Given the description of an element on the screen output the (x, y) to click on. 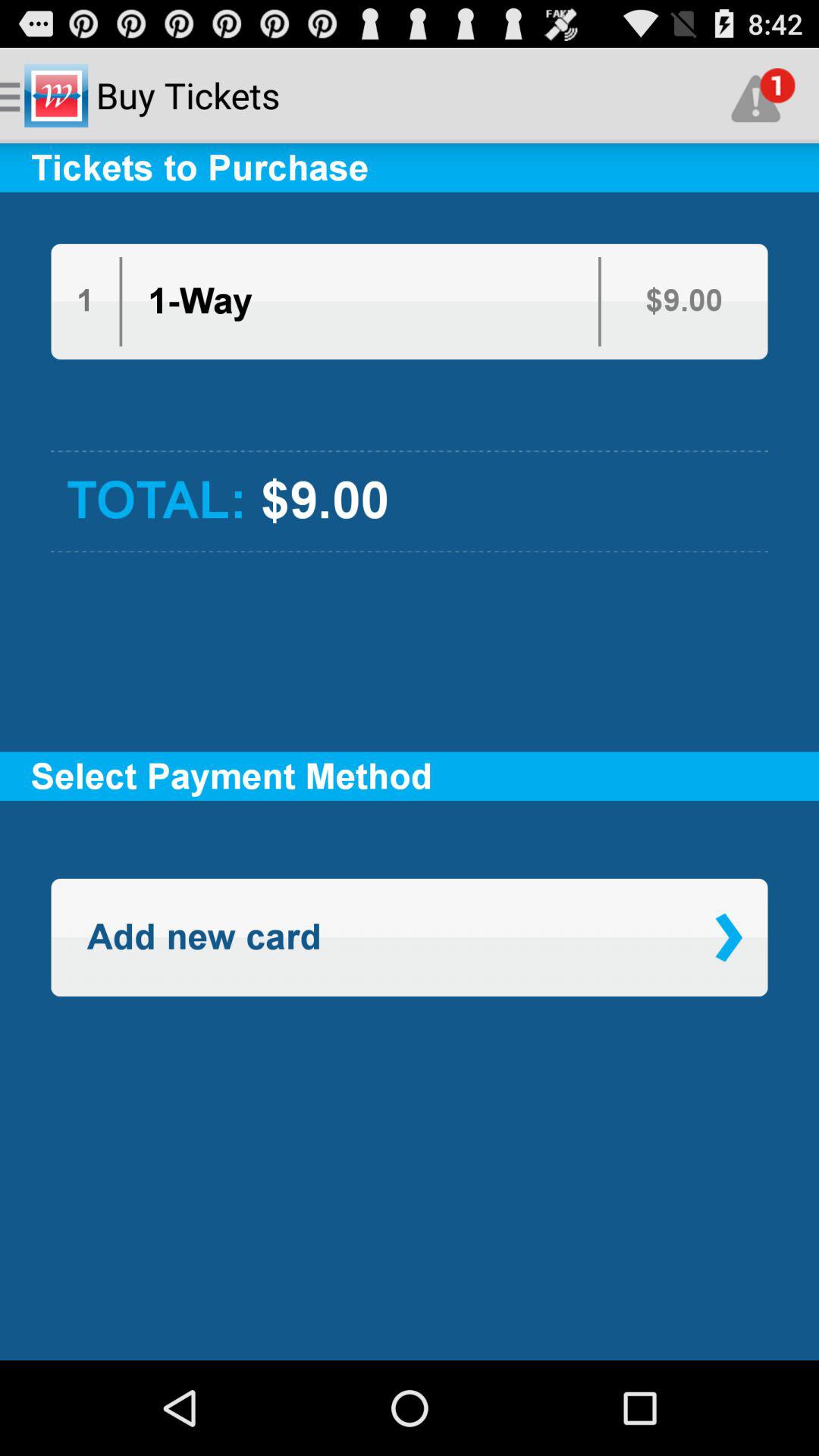
click item on the right (728, 937)
